Given the description of an element on the screen output the (x, y) to click on. 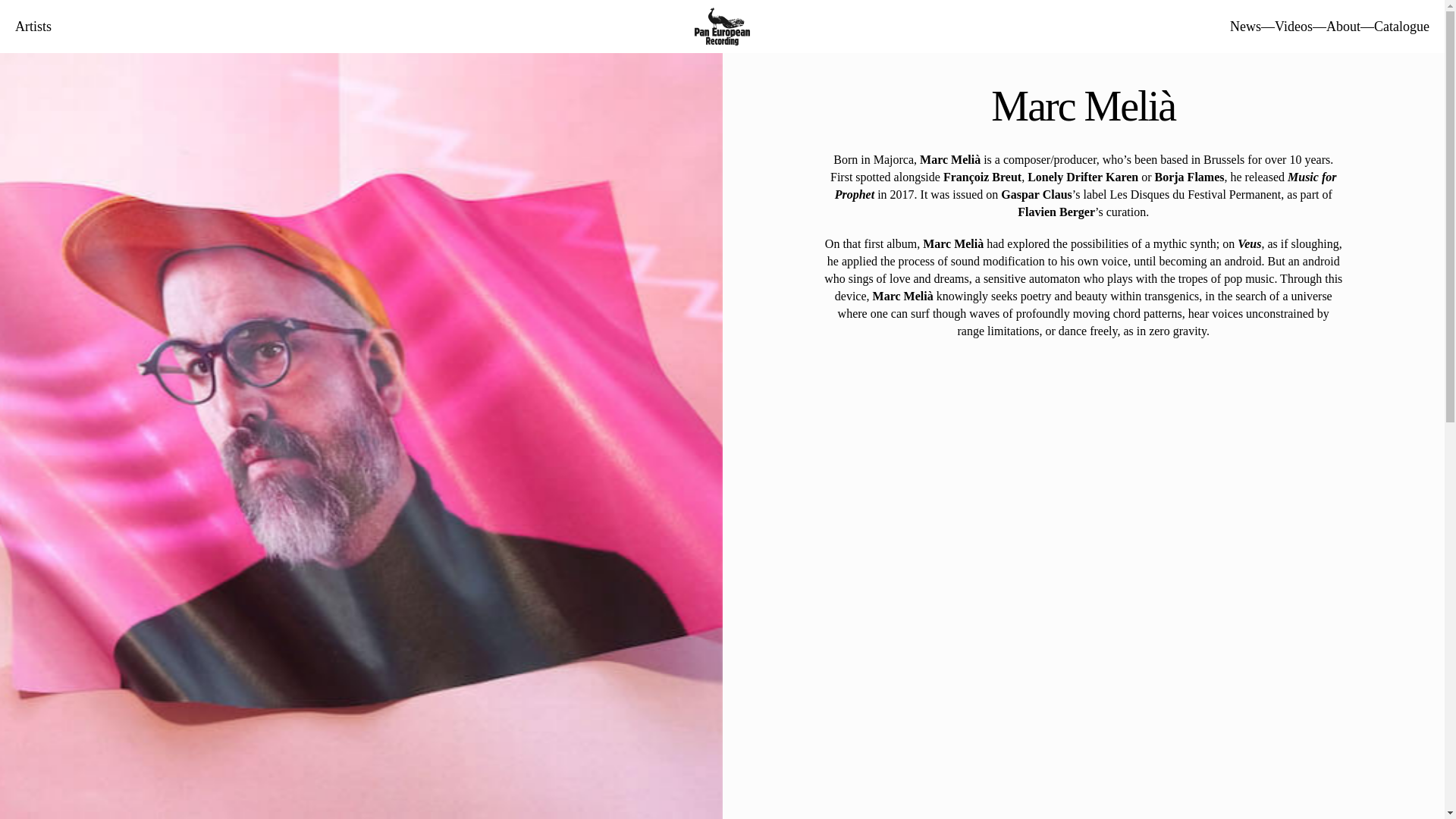
Videos (1294, 26)
